Given the description of an element on the screen output the (x, y) to click on. 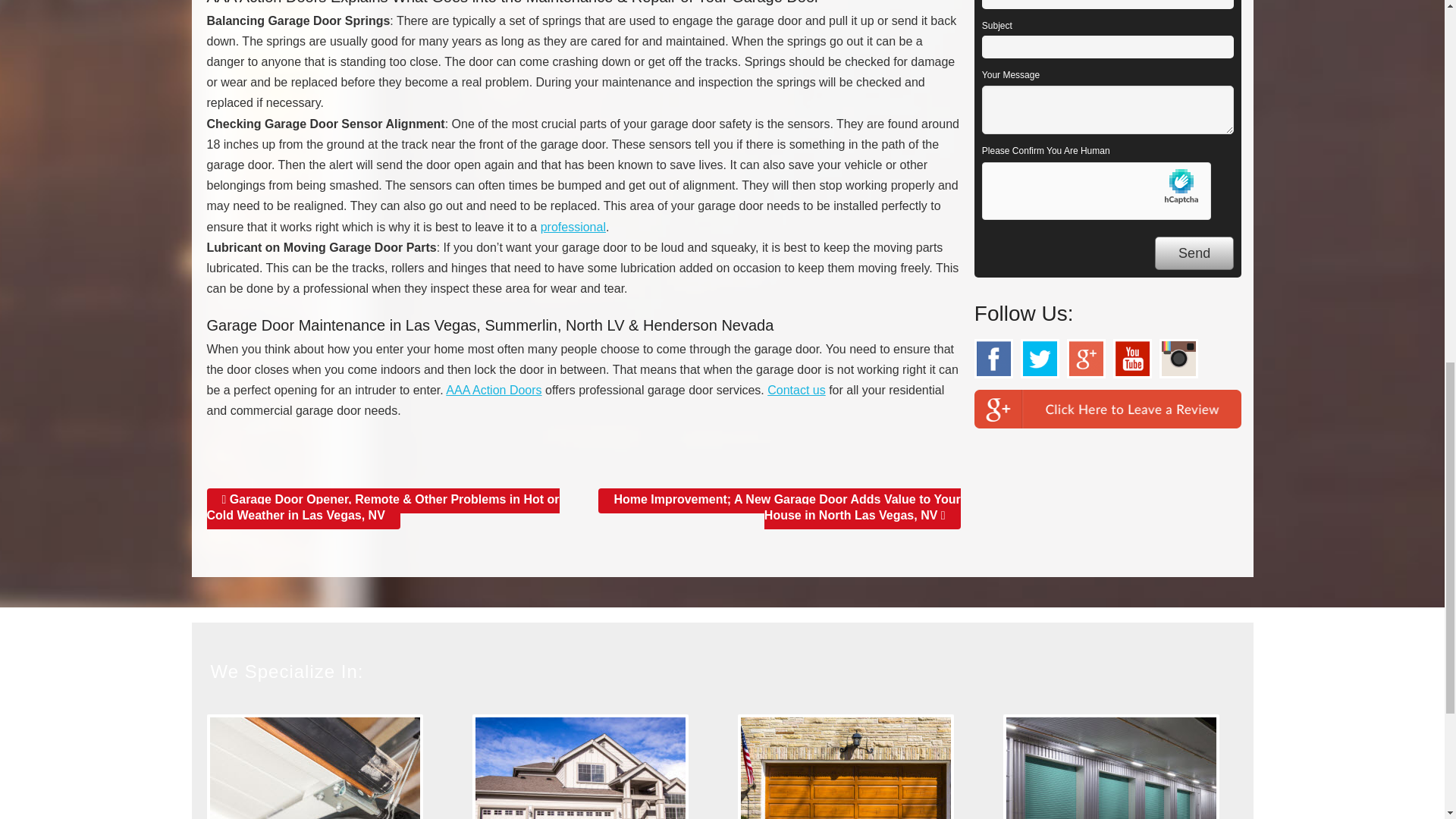
Send (1193, 253)
professional (572, 226)
AAA Action Doors (493, 390)
Contact us (796, 390)
Send (1193, 253)
